Given the description of an element on the screen output the (x, y) to click on. 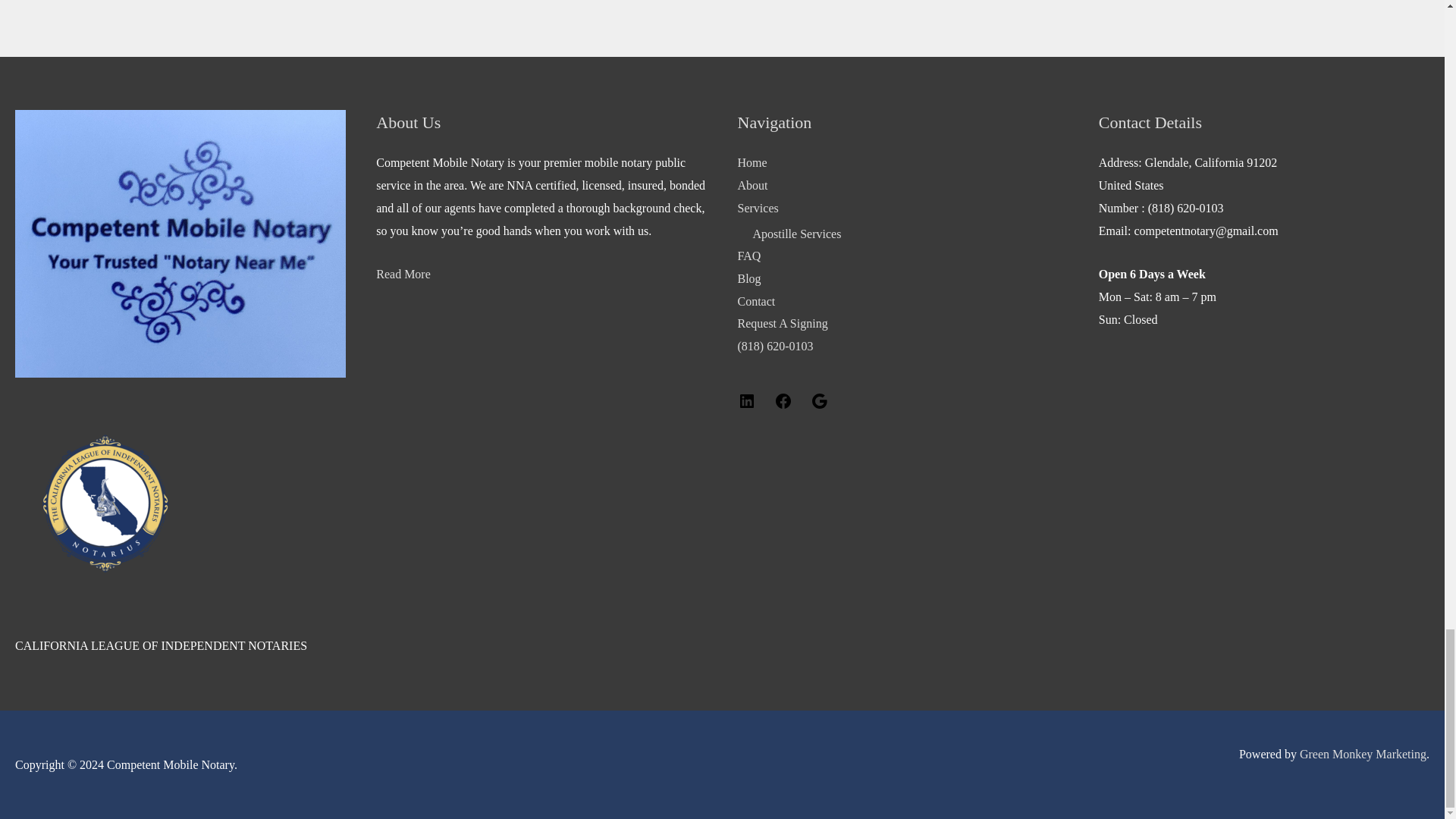
About (751, 185)
Apostille Services (796, 233)
Home (751, 162)
Blog (748, 278)
Contact (755, 300)
Google (818, 405)
FAQ (748, 255)
LinkedIn (745, 405)
Services (756, 207)
Read More (402, 273)
Facebook (782, 405)
Find me on The California League of Independent Notaries (109, 504)
Request A Signing (781, 323)
Green Monkey Marketing (1363, 753)
